Given the description of an element on the screen output the (x, y) to click on. 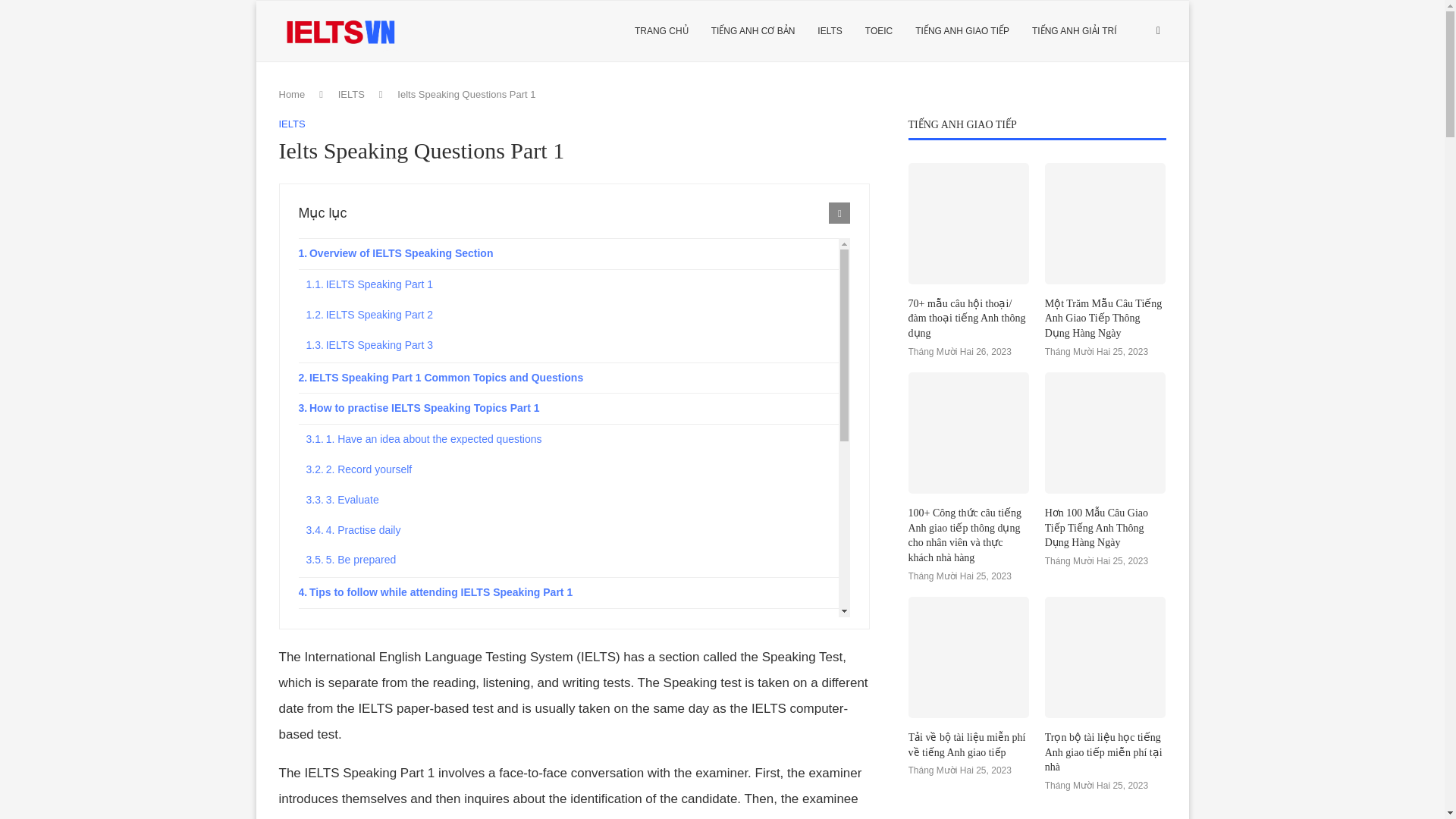
Tips to follow while attending IELTS Speaking Part 1 (569, 593)
4. Practise daily (572, 530)
5. Use a range of grammar and avoid using fillers (572, 744)
Tips to follow while attending IELTS Speaking Part 1 (569, 593)
IELTS (292, 123)
1. Have an idea about the expected questions (572, 440)
4. Practise daily  (572, 530)
IELTS Speaking Part 2 (572, 315)
2. Avoid using unfamiliar and long words (572, 654)
IELTS Speaking Part 1 Common Topics and Questions (569, 378)
